Given the description of an element on the screen output the (x, y) to click on. 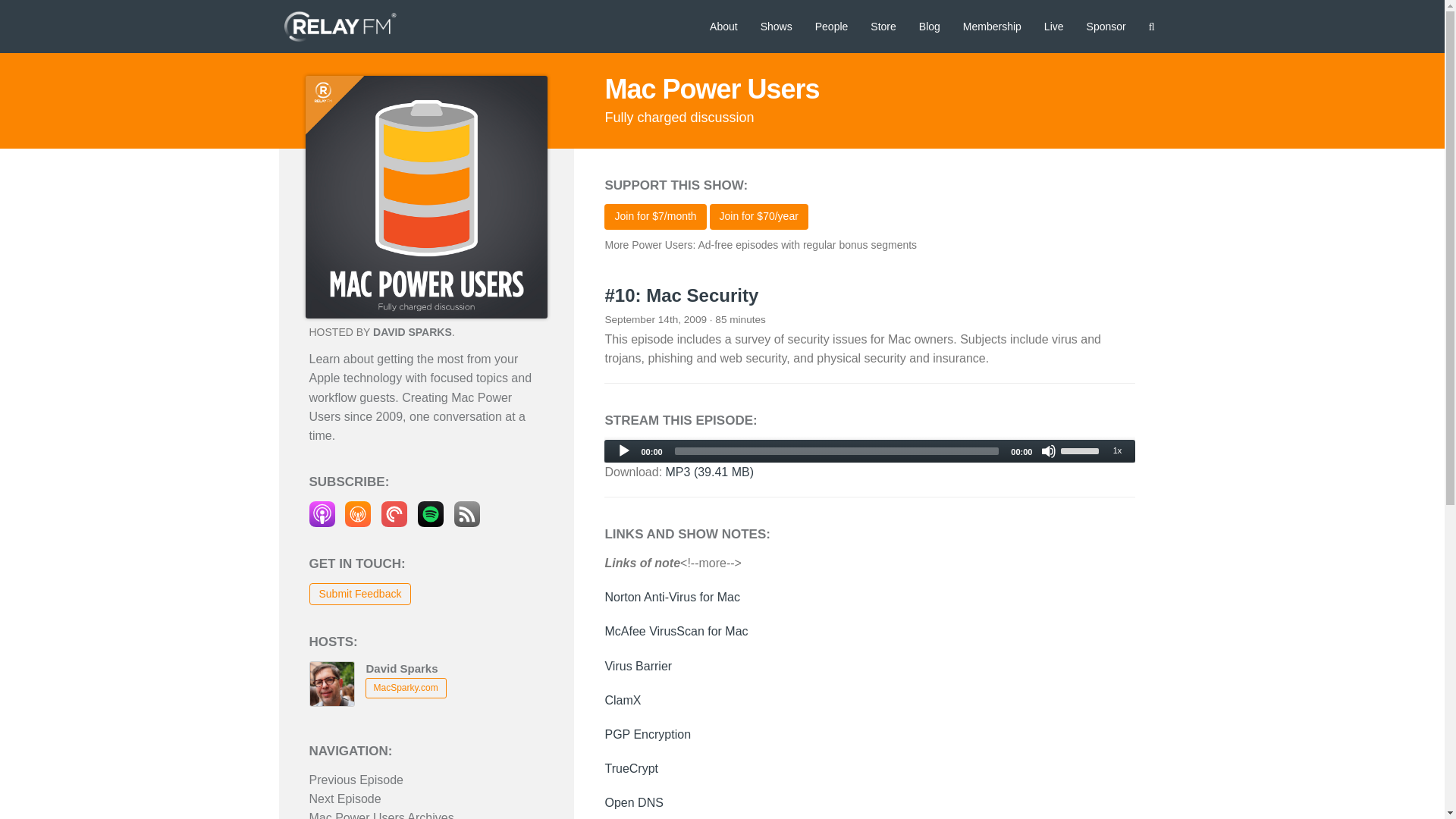
Submit Feedback (360, 593)
Download MP3 (709, 472)
Play (623, 450)
Previous Episode (356, 779)
Membership (992, 26)
Sponsor (1106, 26)
Store (883, 26)
Speed Rate (1117, 450)
About (723, 26)
Mac Power Users (711, 88)
